Given the description of an element on the screen output the (x, y) to click on. 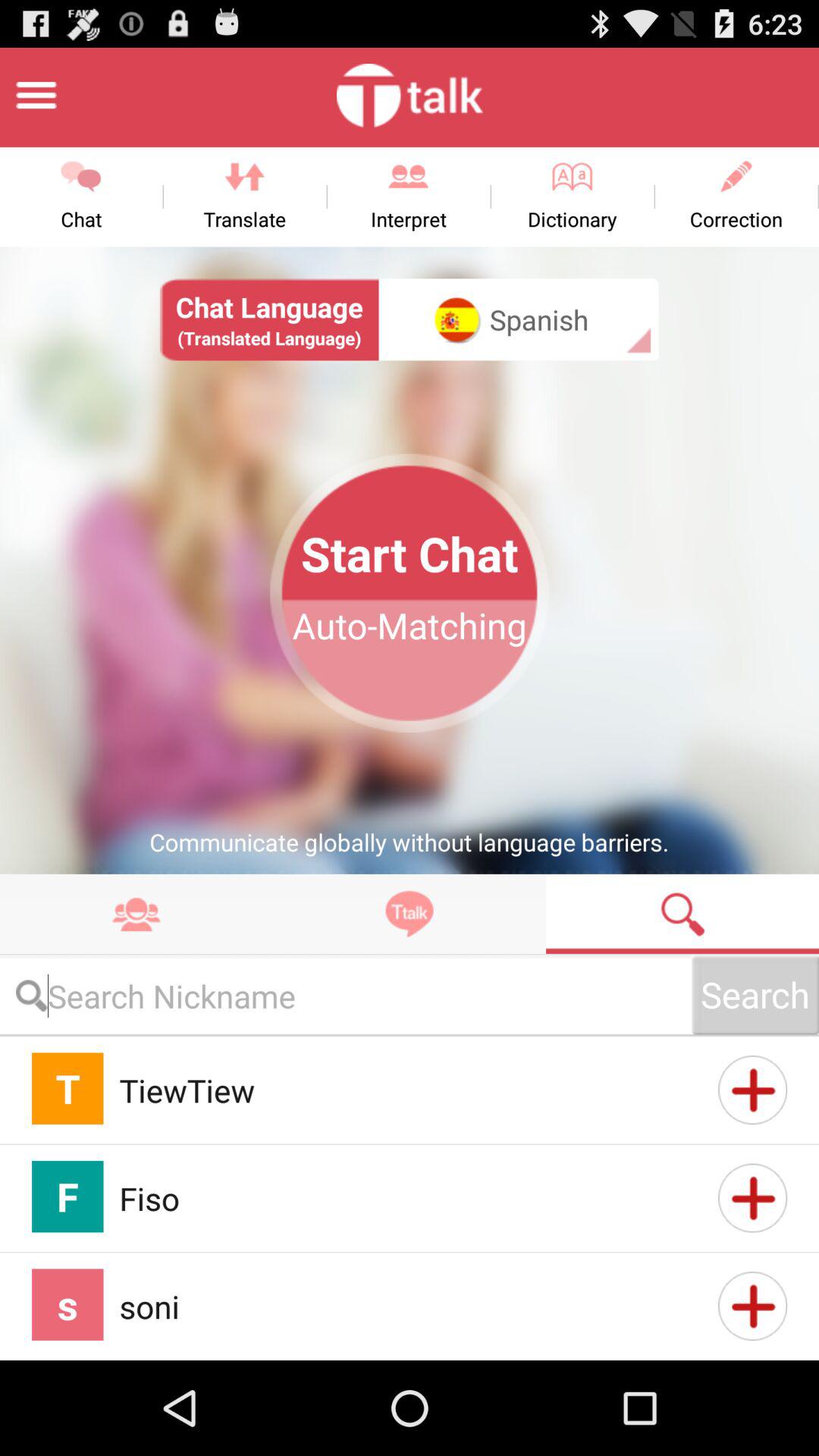
type search text (345, 995)
